Given the description of an element on the screen output the (x, y) to click on. 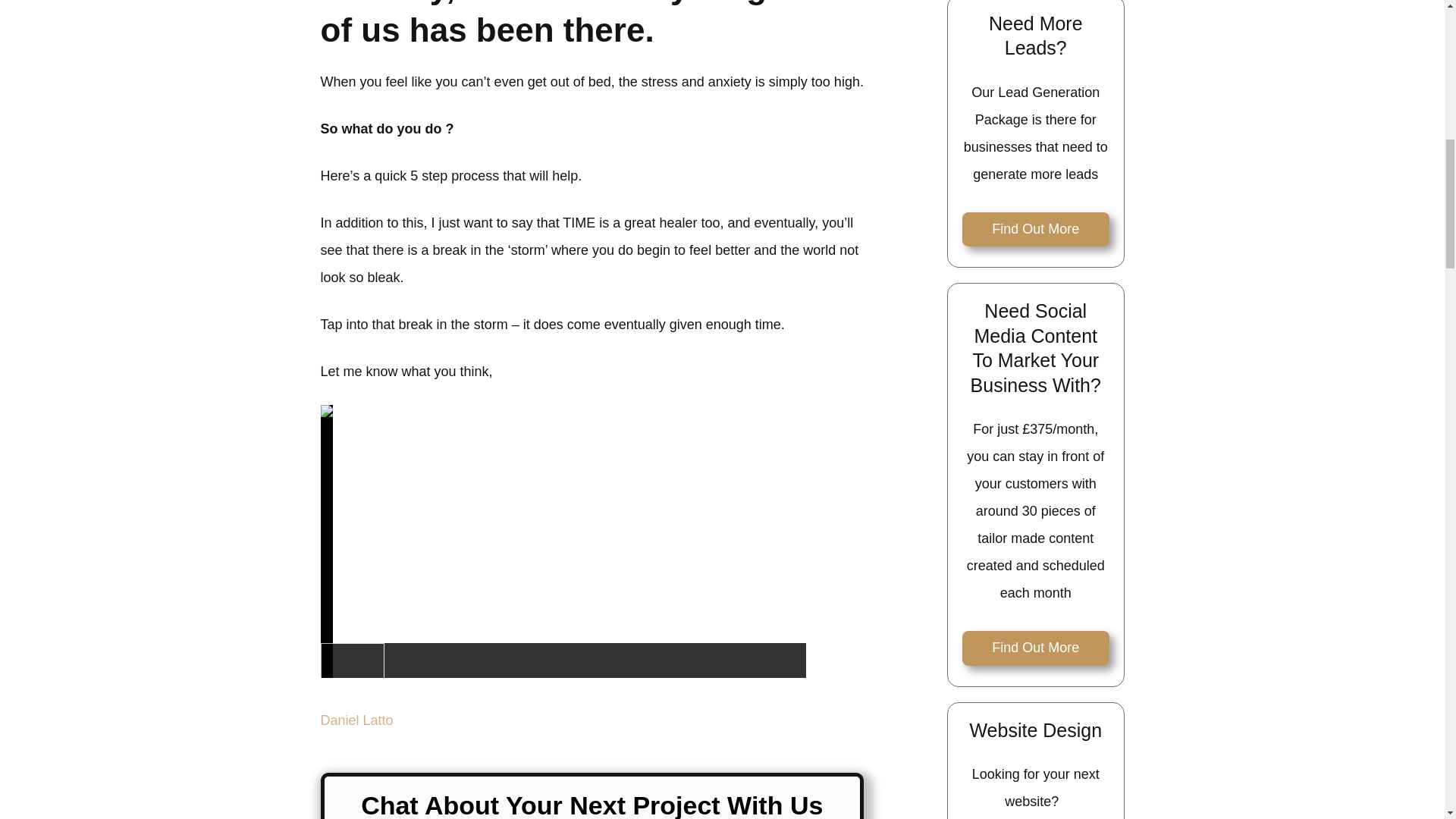
Daniel Latto (356, 720)
Daniel Latto (356, 720)
